Given the description of an element on the screen output the (x, y) to click on. 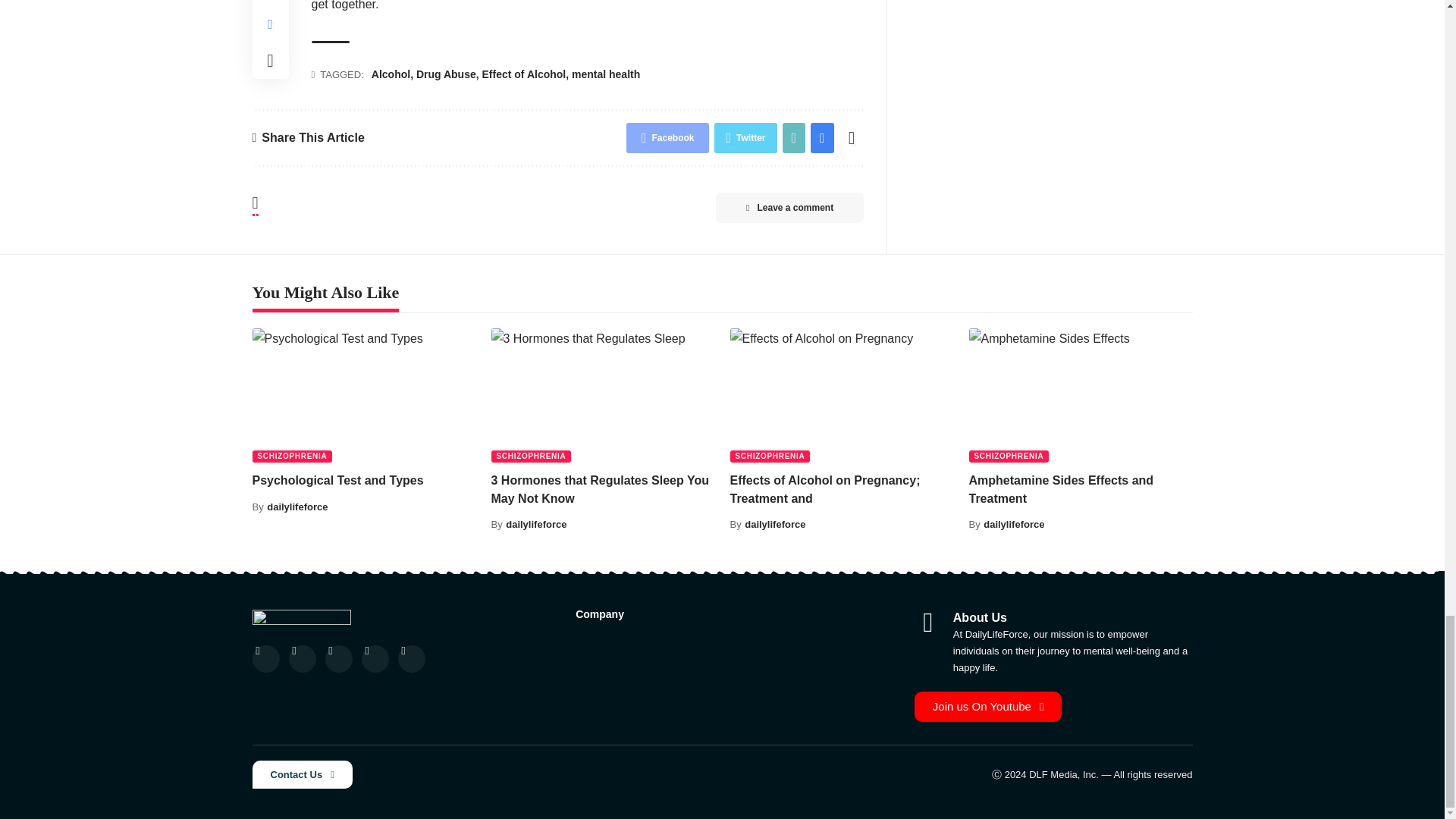
3 Hormones that Regulates Sleep You May Not Know (603, 395)
Effects of Alcohol on Pregnancy; Treatment and (841, 395)
Psychological Test and Types (363, 395)
Amphetamine Sides Effects and Treatment (1080, 395)
